Given the description of an element on the screen output the (x, y) to click on. 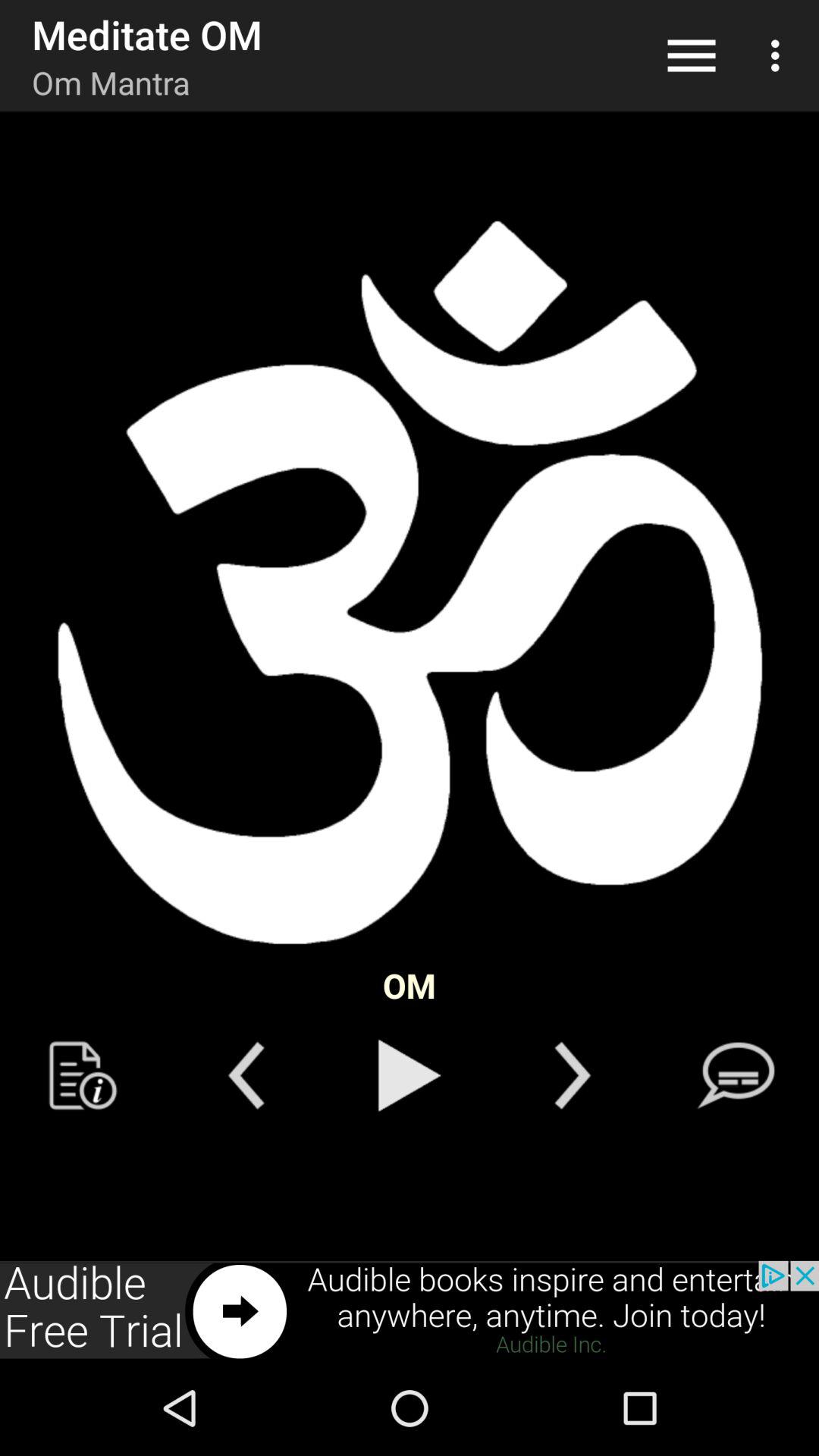
click on the advertisement (409, 1310)
